Given the description of an element on the screen output the (x, y) to click on. 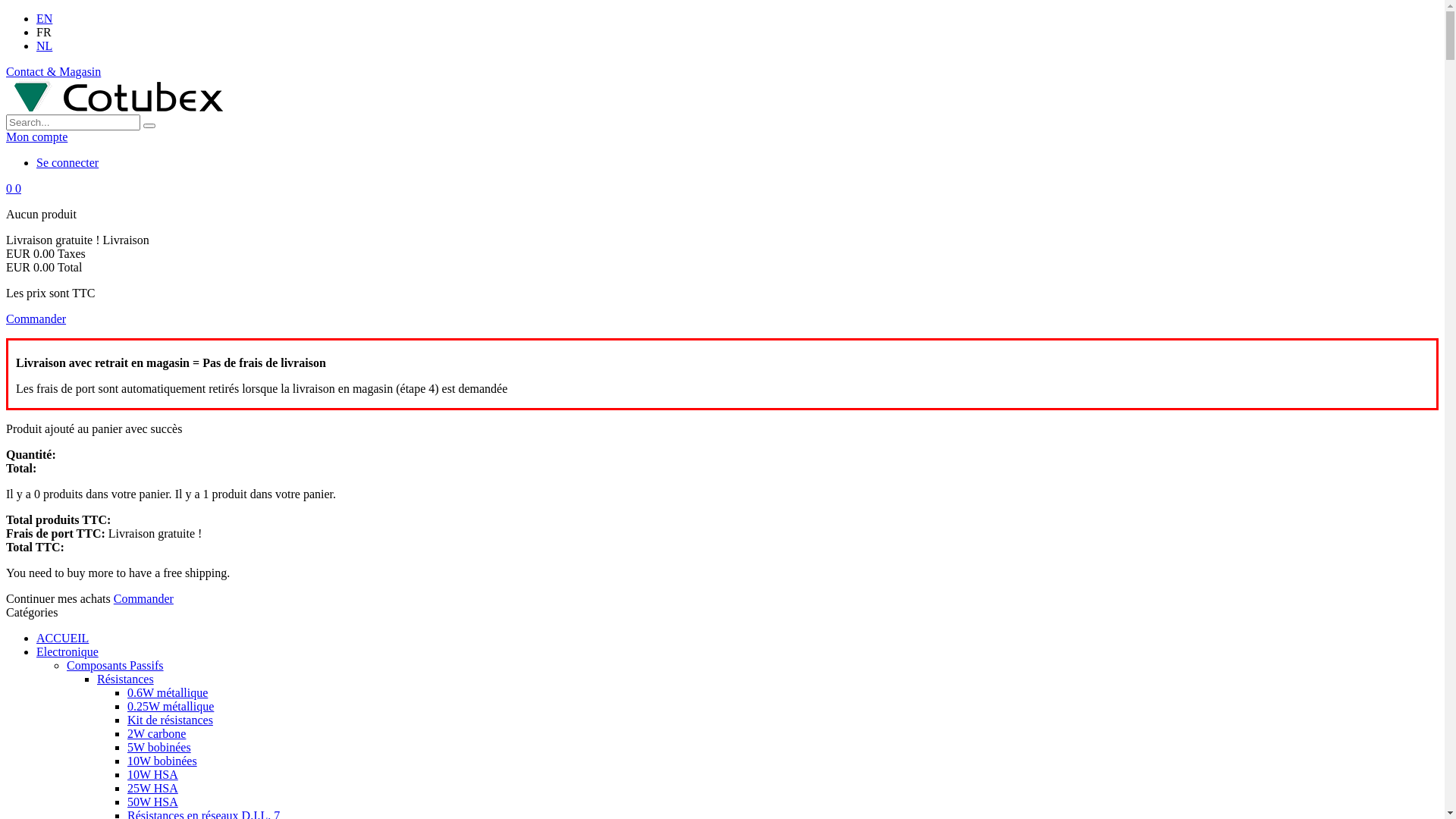
Electronique Element type: text (67, 651)
ACCUEIL Element type: text (62, 637)
Commander Element type: text (143, 598)
Commander Element type: text (35, 318)
0 0 Element type: text (13, 188)
EN Element type: text (44, 18)
Contact & Magasin Element type: text (53, 71)
25W HSA Element type: text (152, 787)
Se connecter Element type: text (67, 162)
2W carbone Element type: text (156, 733)
Cotubex Element type: hover (114, 106)
10W HSA Element type: text (152, 774)
NL Element type: text (44, 45)
Composants Passifs Element type: text (114, 664)
Mon compte Element type: text (36, 136)
50W HSA Element type: text (152, 801)
